Given the description of an element on the screen output the (x, y) to click on. 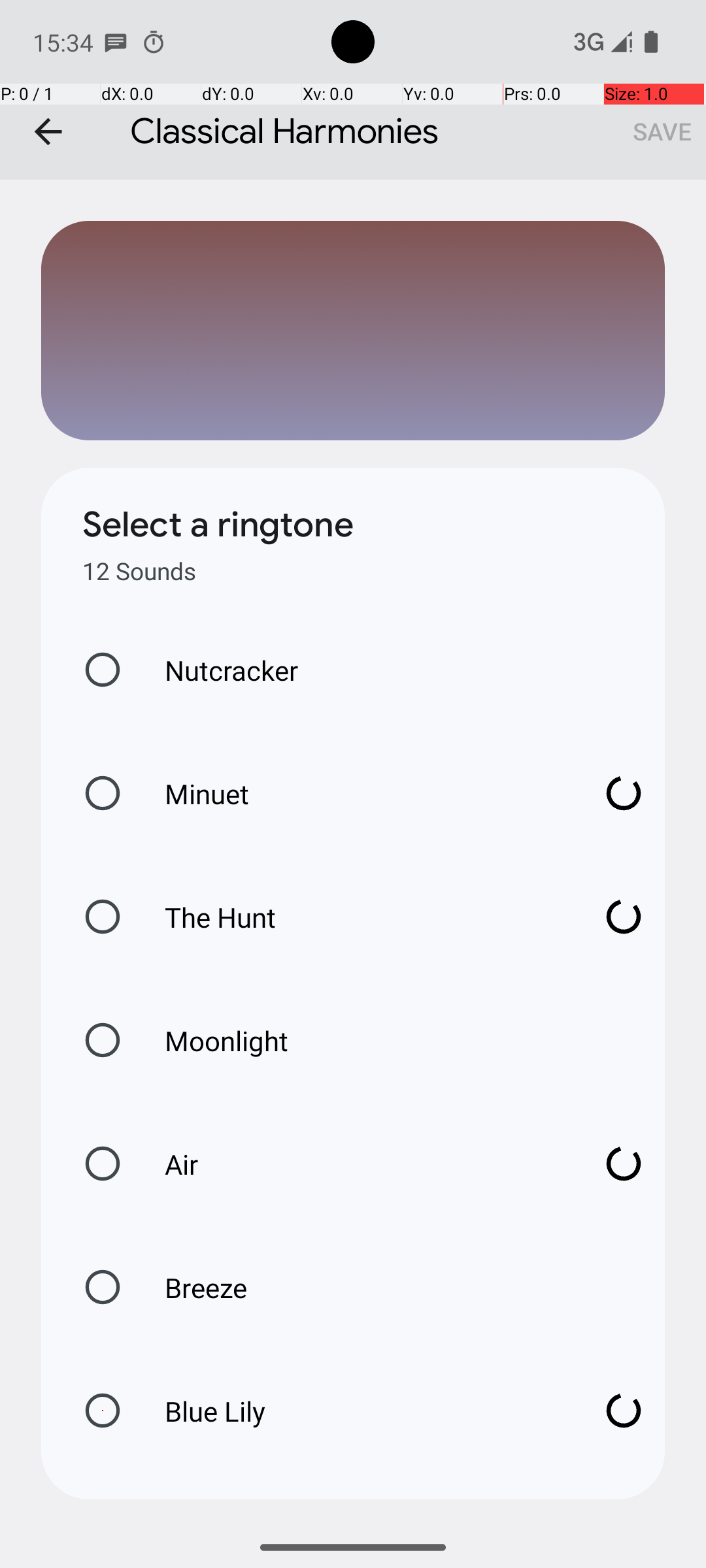
Nutcracker Element type: android.widget.TextView (217, 669)
Minuet Element type: android.widget.TextView (359, 793)
The Hunt Element type: android.widget.TextView (359, 916)
Moonlight Element type: android.widget.TextView (212, 1040)
Air Element type: android.widget.TextView (359, 1163)
Breeze Element type: android.widget.TextView (192, 1287)
Blue Lily Element type: android.widget.TextView (359, 1410)
